Given the description of an element on the screen output the (x, y) to click on. 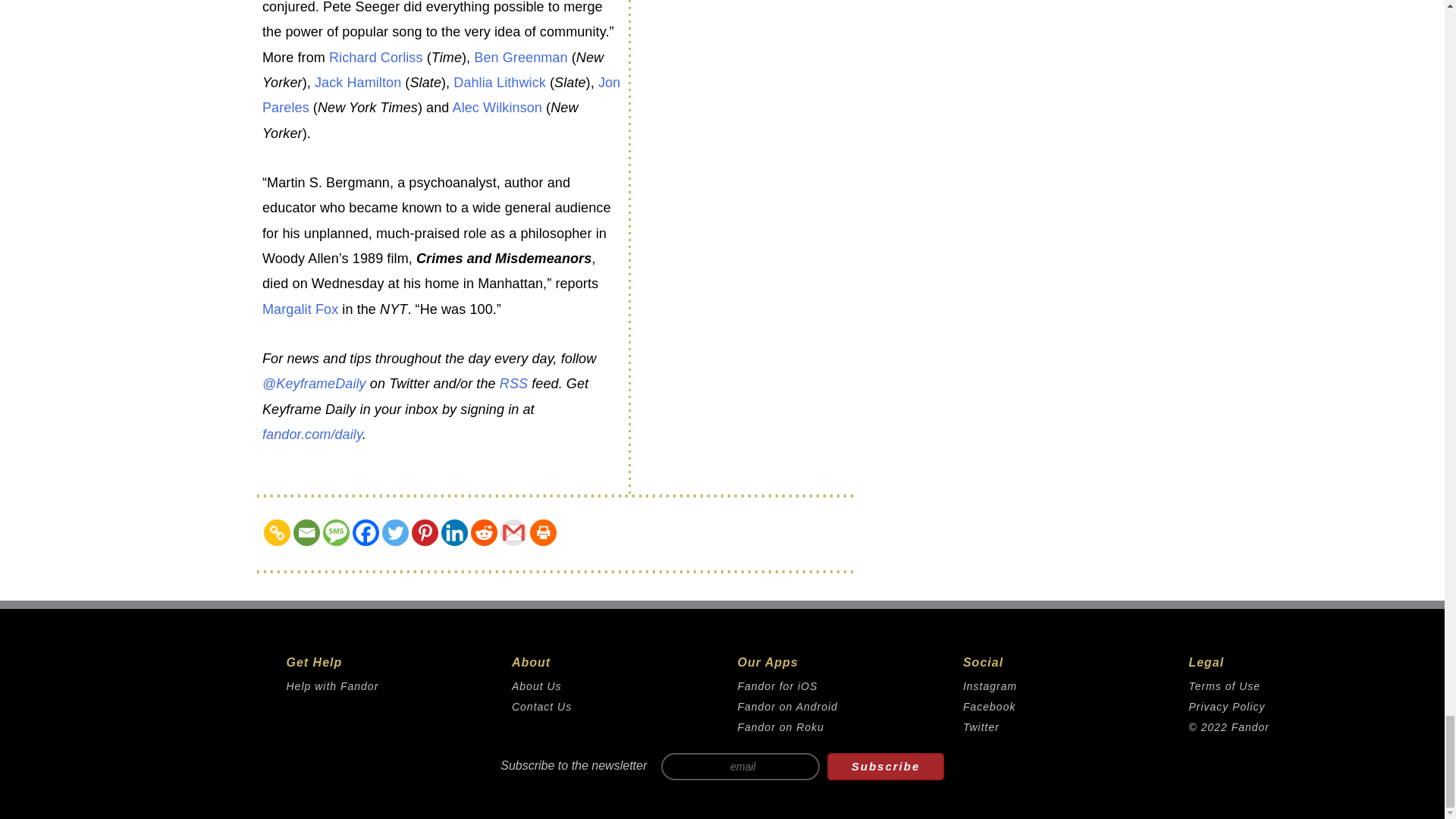
Facebook (365, 532)
Copy Link (276, 532)
Email (307, 532)
Print (542, 532)
Reddit (483, 532)
Google Gmail (513, 532)
Linkedin (454, 532)
Twitter (395, 532)
SMS (336, 532)
Pinterest (425, 532)
